Given the description of an element on the screen output the (x, y) to click on. 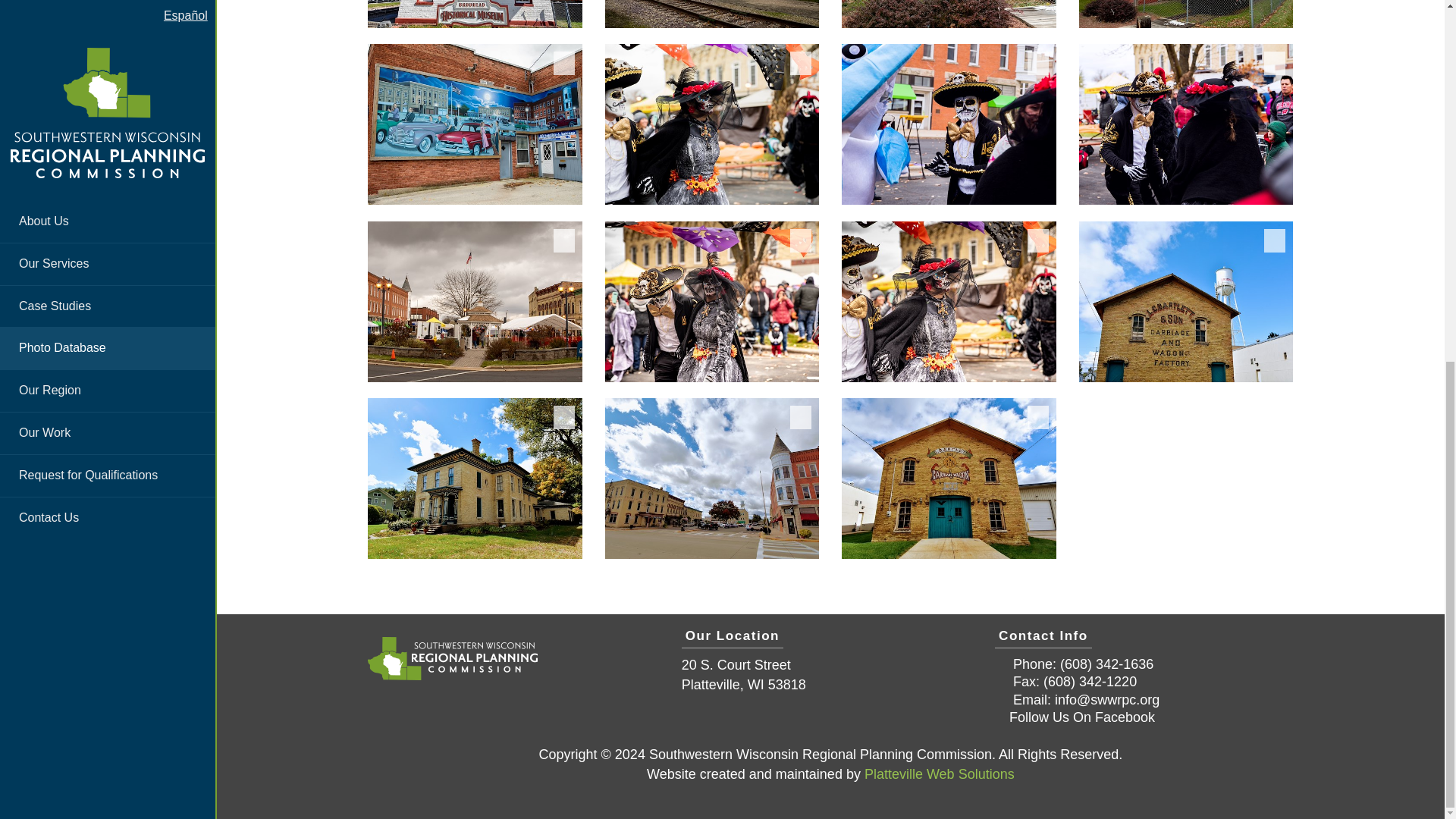
Zoom In (712, 301)
Zoom In (949, 13)
Zoom In (475, 301)
Zoom In (712, 13)
Zoom In (1186, 124)
Zoom In (475, 124)
Zoom In (712, 478)
Zoom In (1186, 13)
Zoom In (1186, 301)
Zoom In (475, 13)
Zoom In (949, 301)
Zoom In (475, 478)
Zoom In (712, 124)
Zoom In (949, 478)
Zoom In (949, 124)
